Given the description of an element on the screen output the (x, y) to click on. 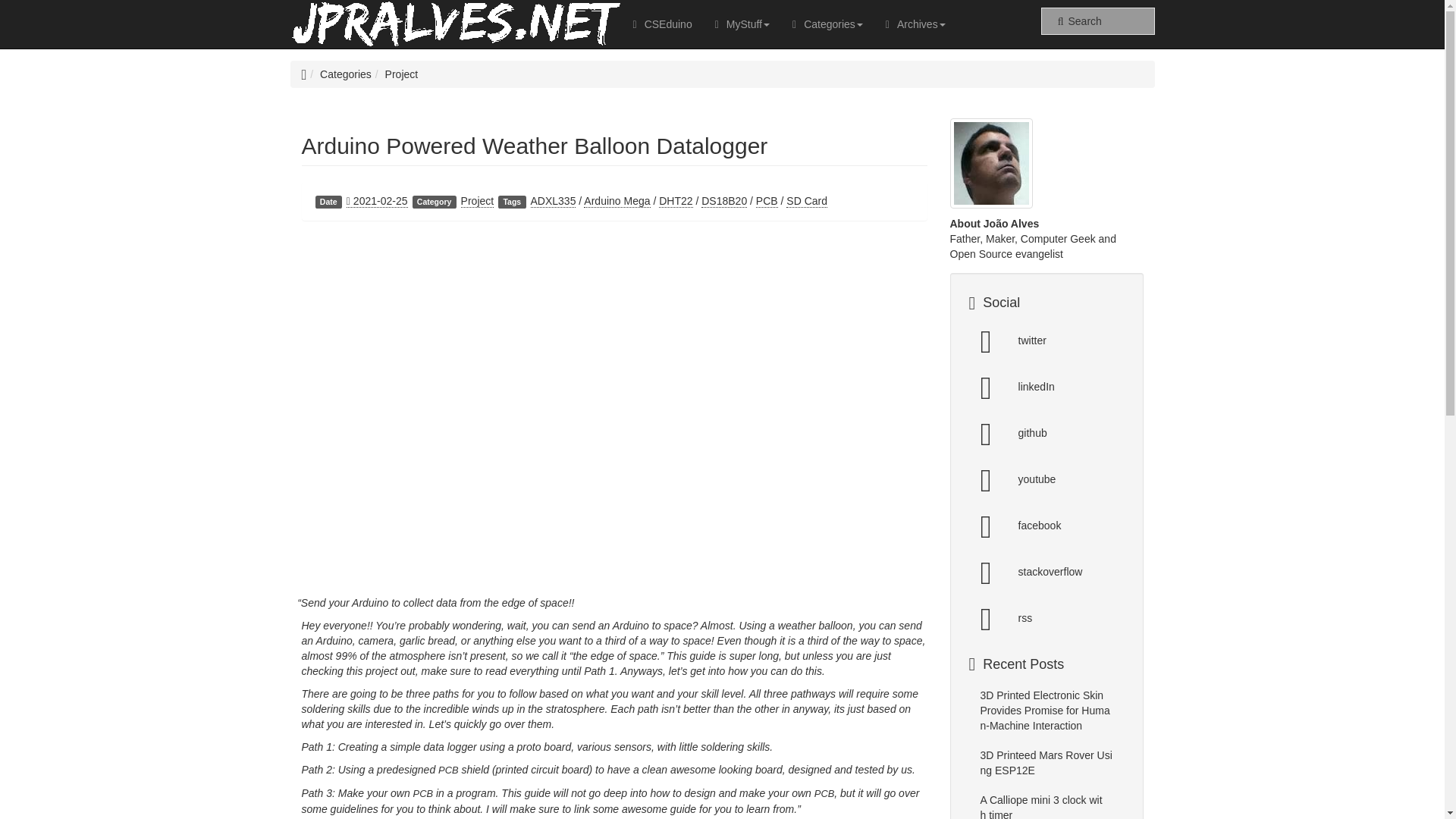
PCB (766, 201)
MyStuff (741, 24)
ADXL335 (553, 201)
Arduino Powered Weather Balloon Datalogger (534, 145)
CSEduino (662, 24)
Arduino Mega (616, 201)
Categories (345, 73)
Project (402, 73)
Project (478, 201)
